Given the description of an element on the screen output the (x, y) to click on. 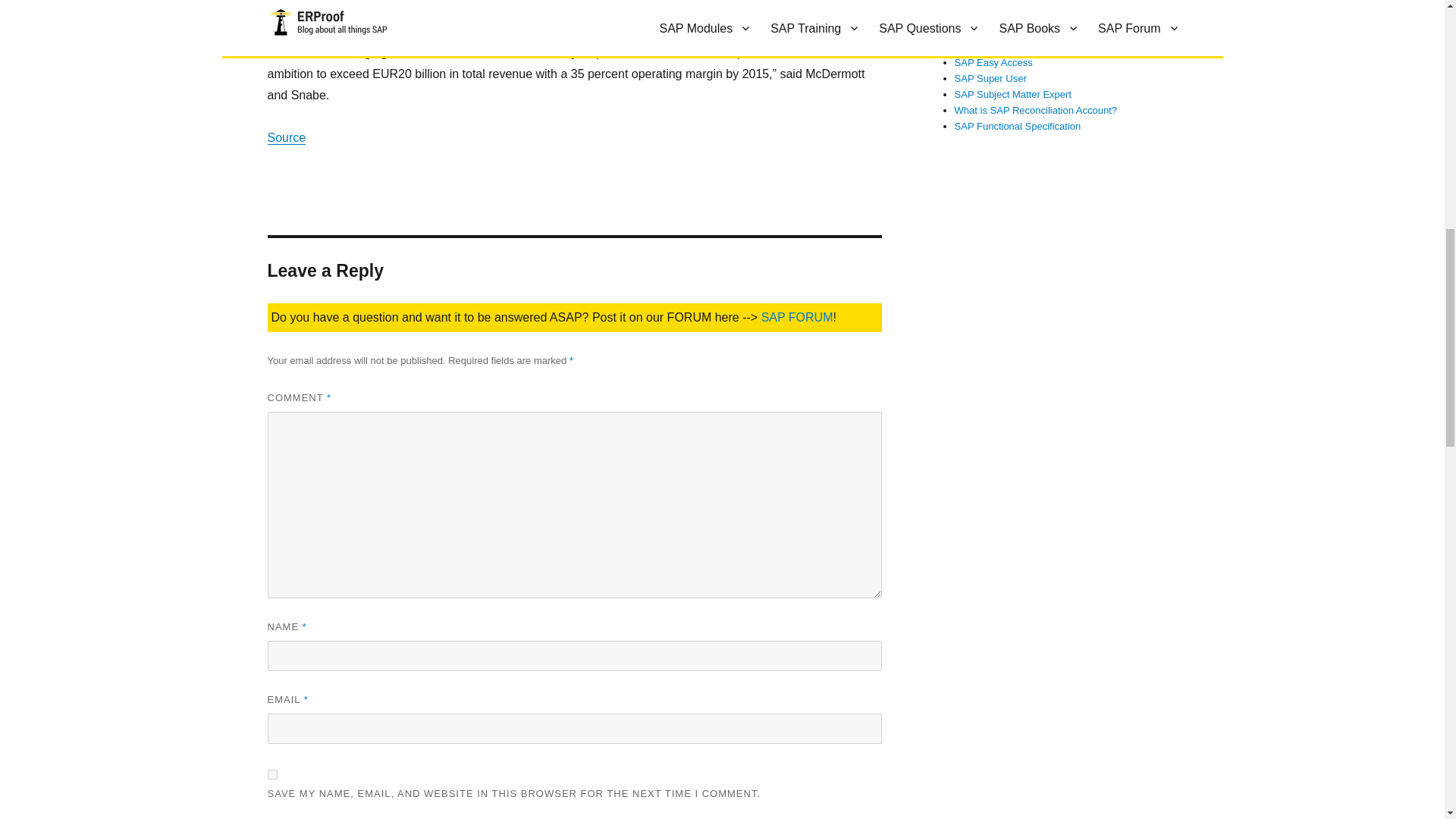
Source (285, 137)
yes (271, 774)
